Given the description of an element on the screen output the (x, y) to click on. 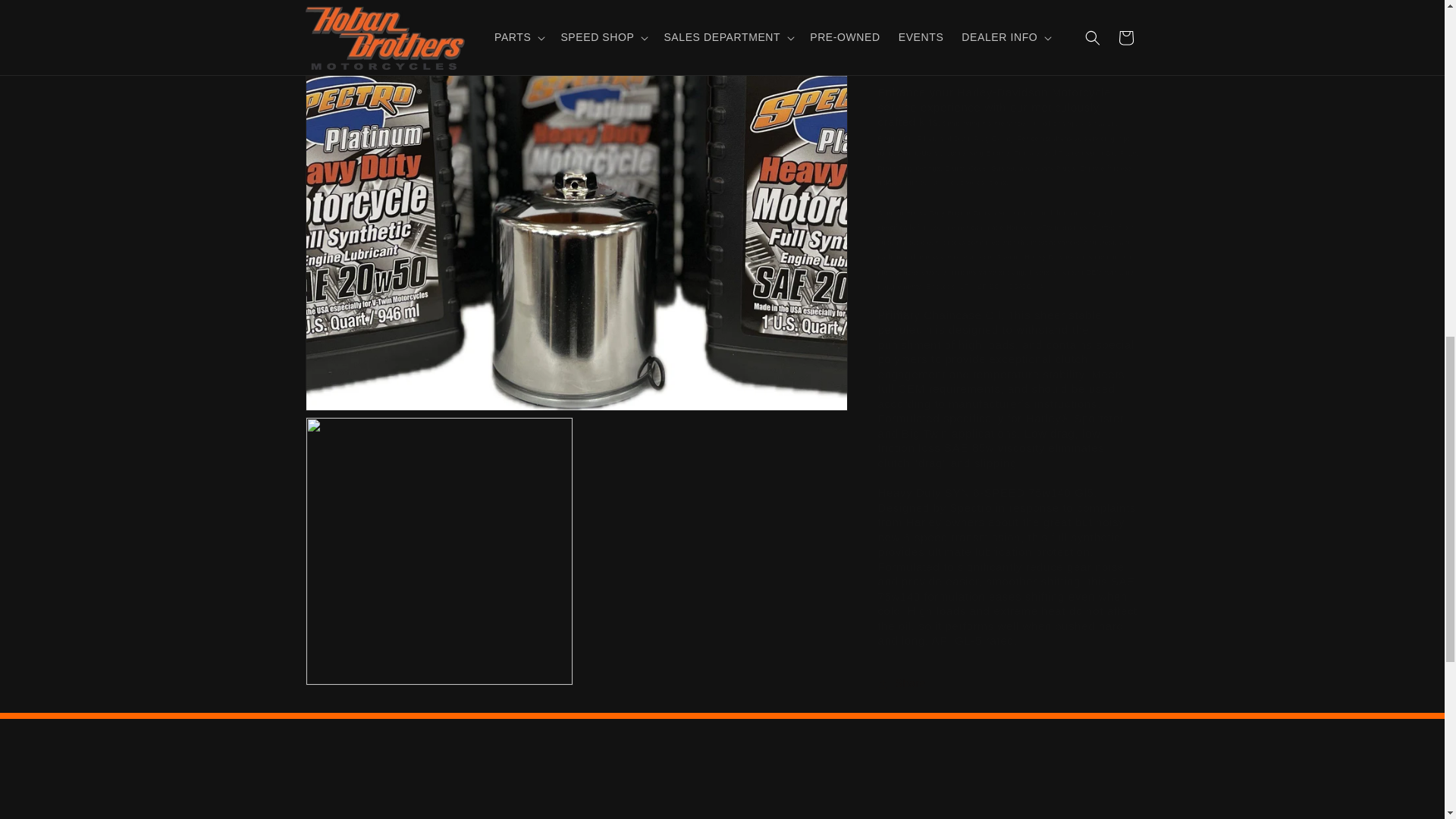
Open media 4 in modal (438, 65)
